Given the description of an element on the screen output the (x, y) to click on. 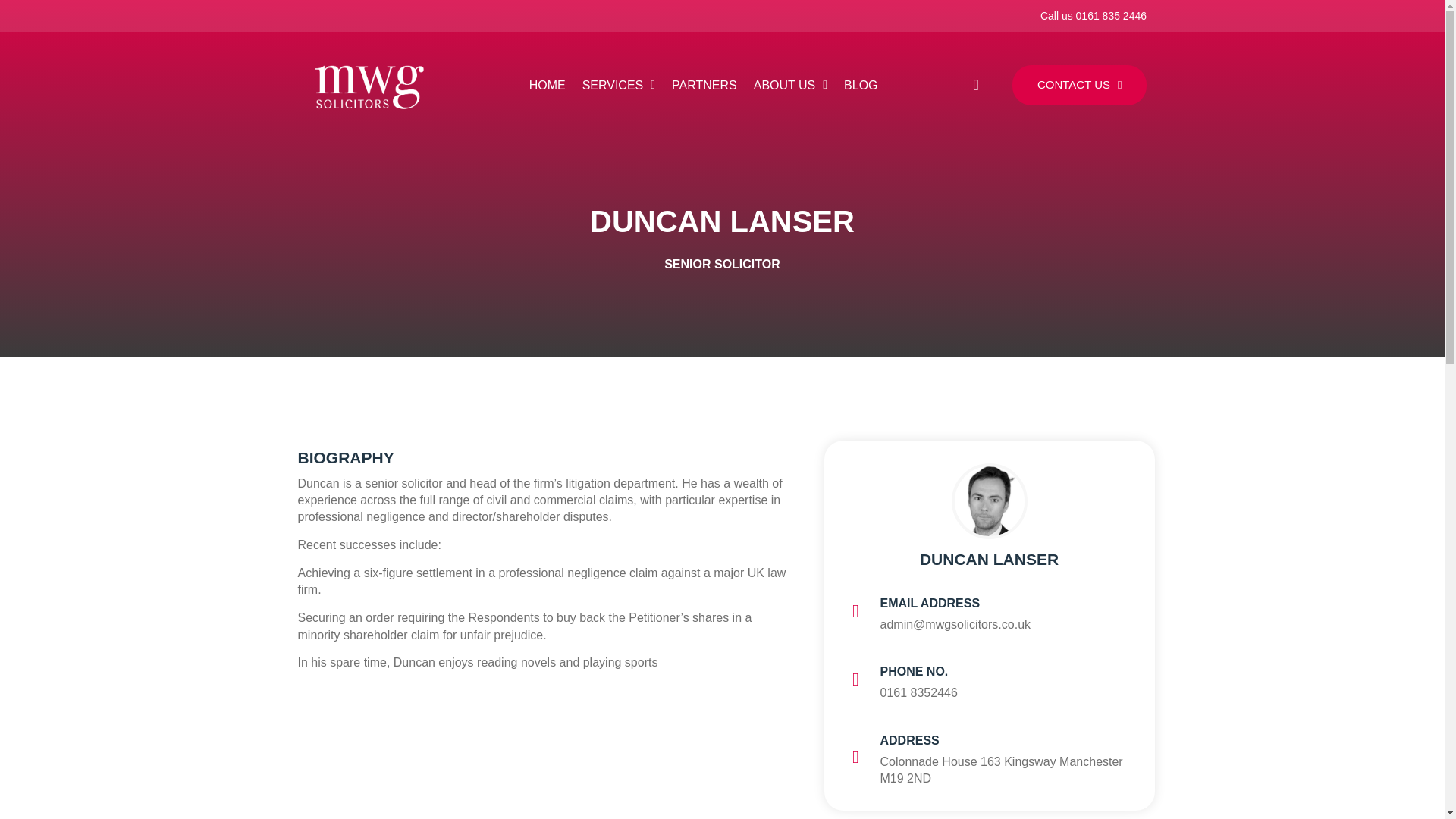
HOME (547, 85)
SERVICES (618, 85)
